Given the description of an element on the screen output the (x, y) to click on. 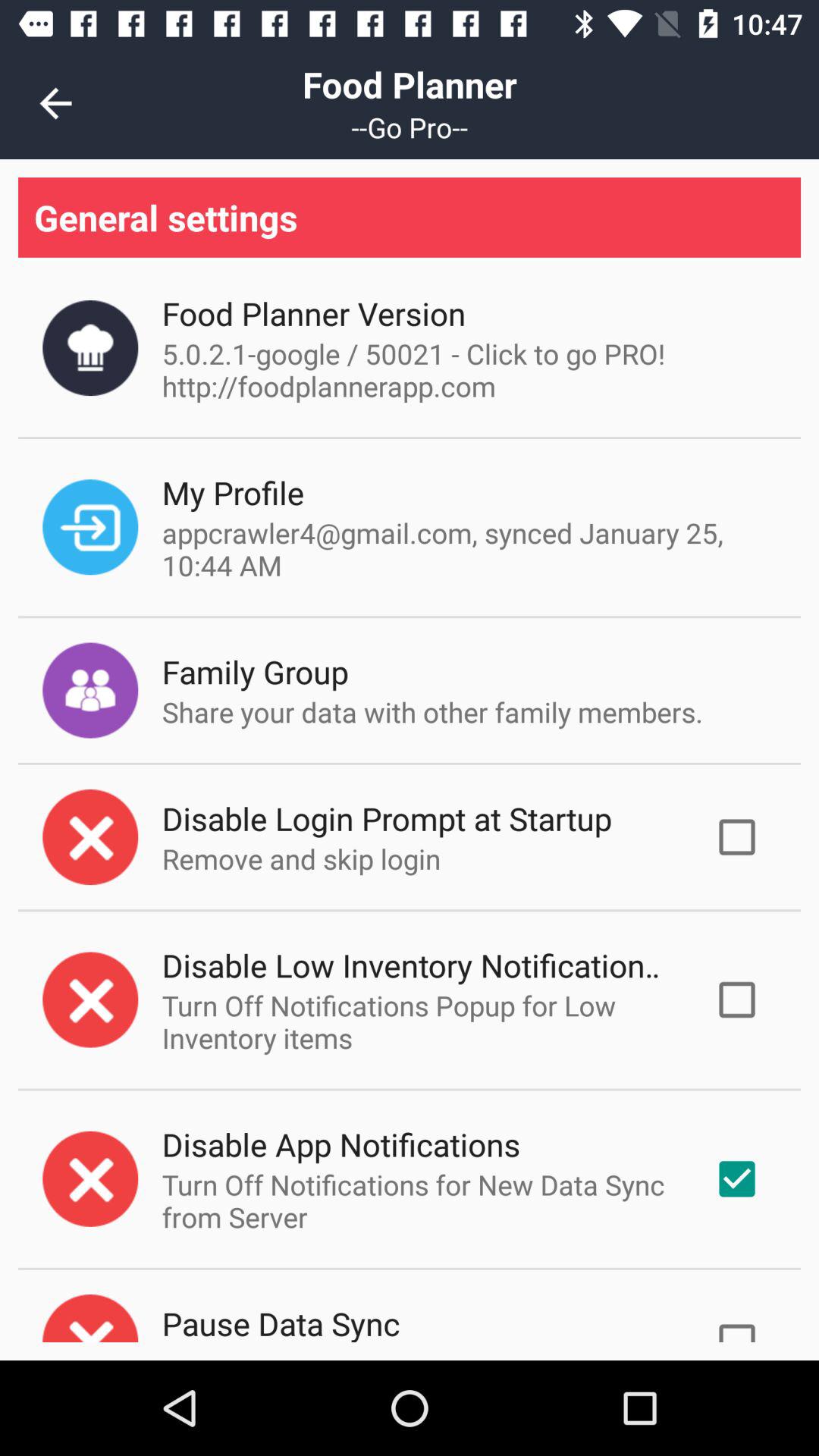
select icon next to food planner (55, 103)
